Given the description of an element on the screen output the (x, y) to click on. 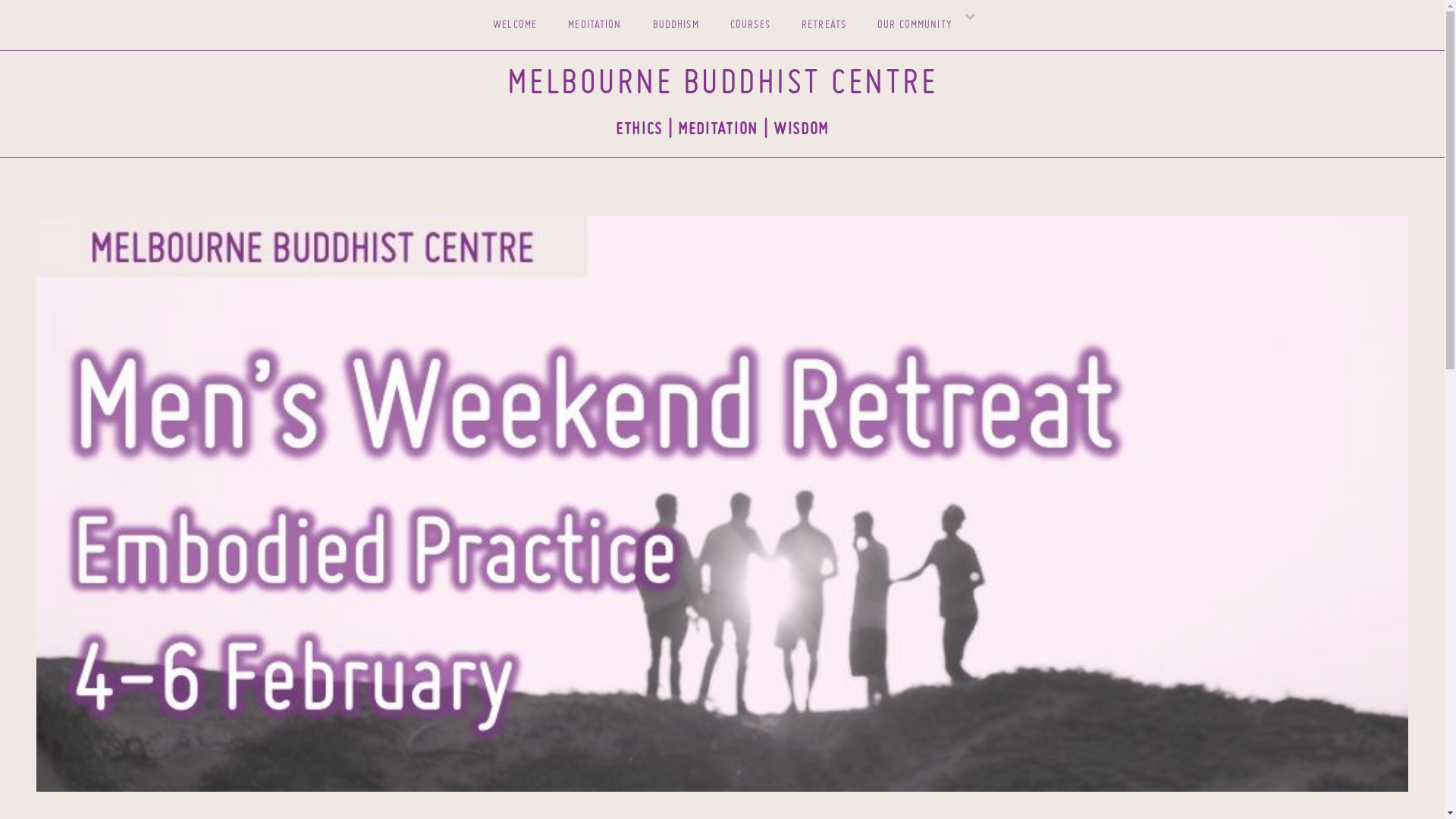
RETREATS Element type: text (823, 24)
MEDITATION Element type: text (594, 24)
COURSES Element type: text (750, 24)
WELCOME Element type: text (514, 24)
MELBOURNE BUDDHIST CENTRE Element type: text (722, 84)
BUDDHISM Element type: text (675, 24)
OUR COMMUNITY Element type: text (914, 24)
